Given the description of an element on the screen output the (x, y) to click on. 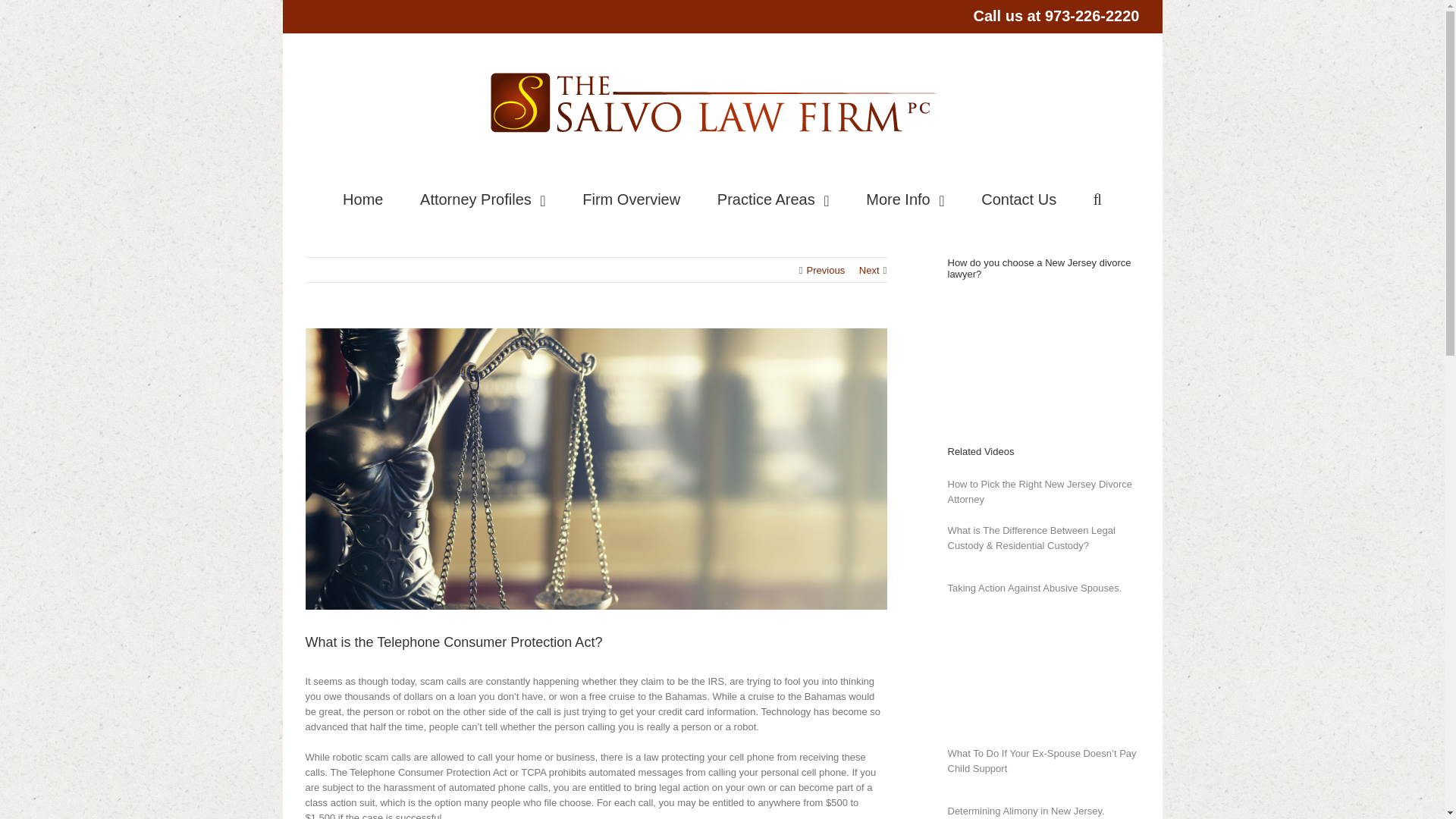
Practice Areas (773, 197)
Firm Overview (630, 197)
Taking Action Against Abusive Spouses. (1039, 664)
Home (362, 197)
Attorney Profiles (483, 197)
